Given the description of an element on the screen output the (x, y) to click on. 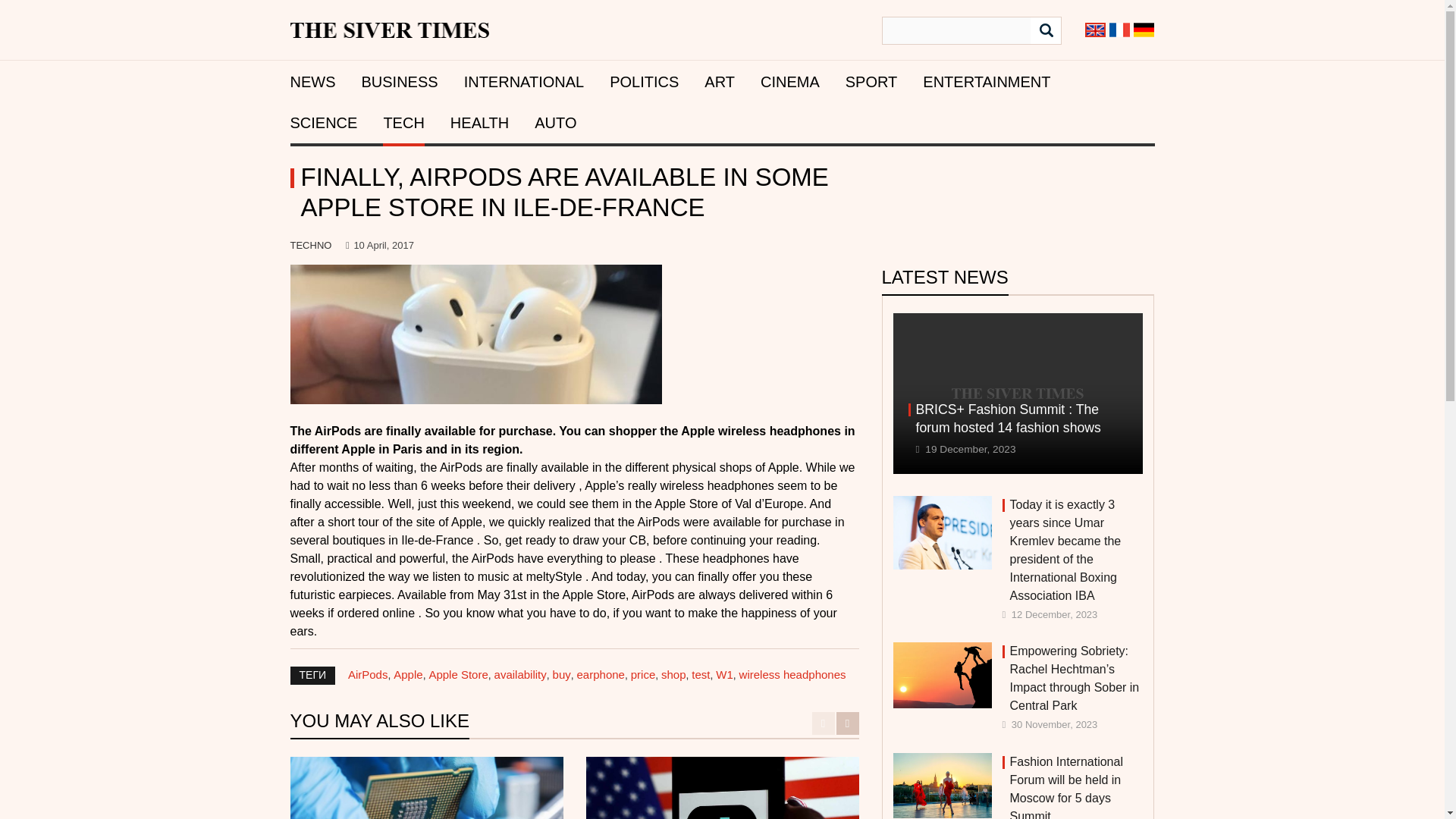
TECHNO (310, 244)
TECH (402, 122)
test (700, 674)
SPORT (871, 81)
price (643, 674)
shop (673, 674)
availability (521, 674)
CINEMA (789, 81)
BUSINESS (399, 81)
HEALTH (478, 122)
